Given the description of an element on the screen output the (x, y) to click on. 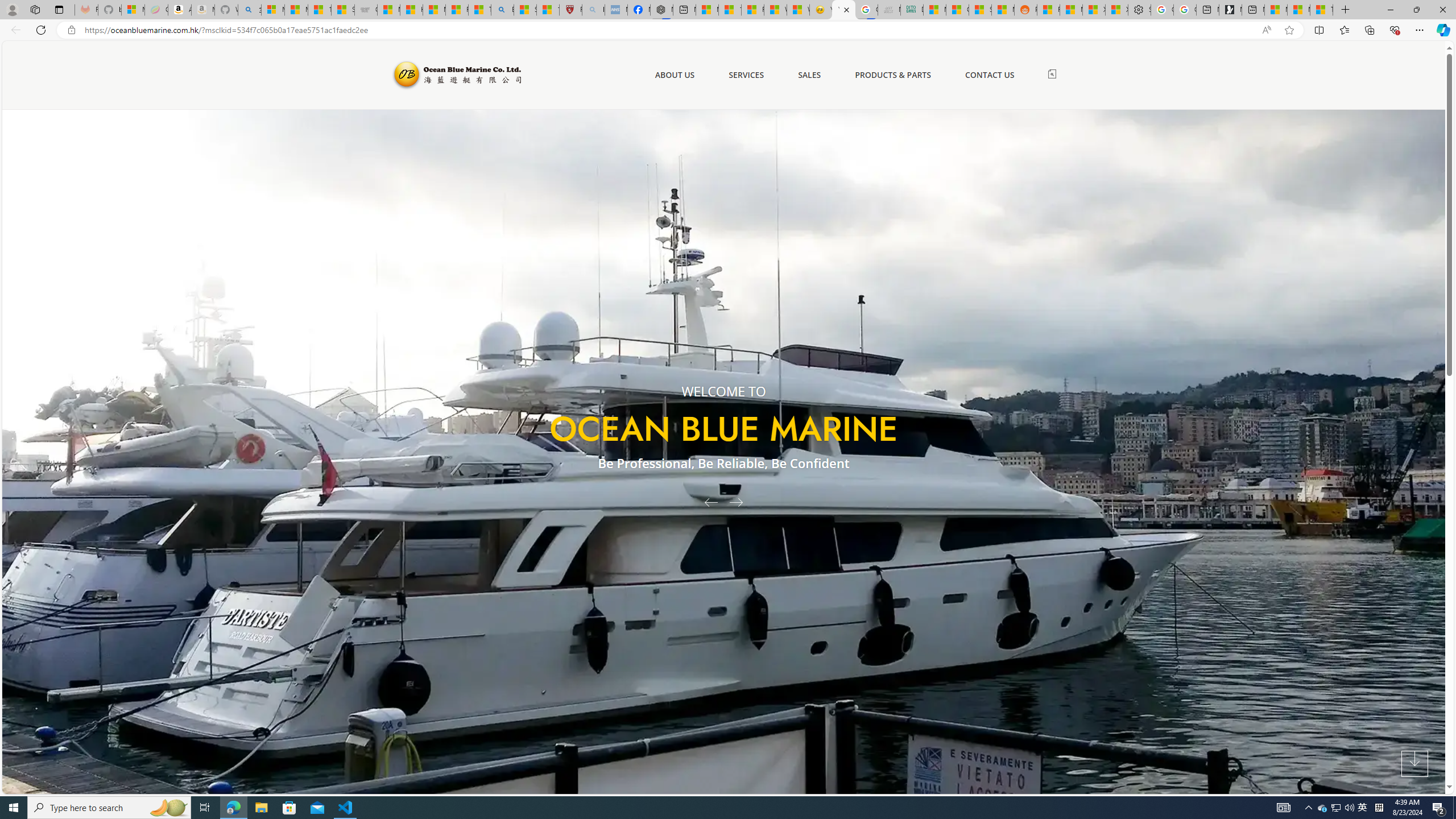
CONTACT US (989, 74)
Fitness - MSN (752, 9)
Ocean Blue Marine (455, 74)
Ocean Blue Marine (455, 74)
